Given the description of an element on the screen output the (x, y) to click on. 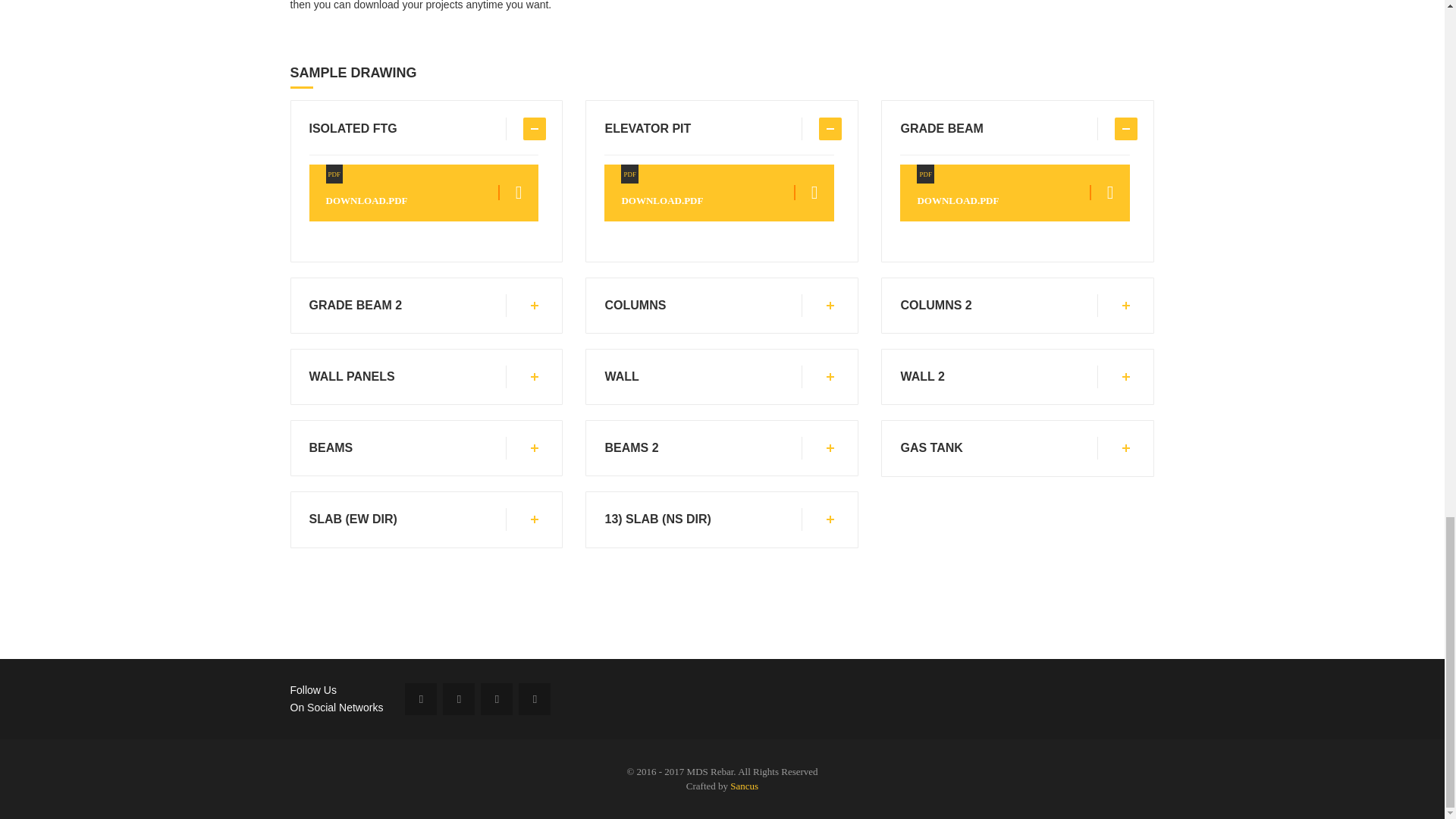
COLUMNS 2 (1014, 192)
WALL 2 (1014, 304)
GAS TANK (1014, 376)
COLUMNS (1014, 447)
GRADE BEAM (719, 304)
ELEVATOR PIT (1014, 128)
ISOLATED FTG (719, 128)
WALL PANELS (423, 128)
WALL (423, 376)
BEAMS (719, 376)
BEAMS 2 (423, 447)
GRADE BEAM 2 (719, 447)
